Given the description of an element on the screen output the (x, y) to click on. 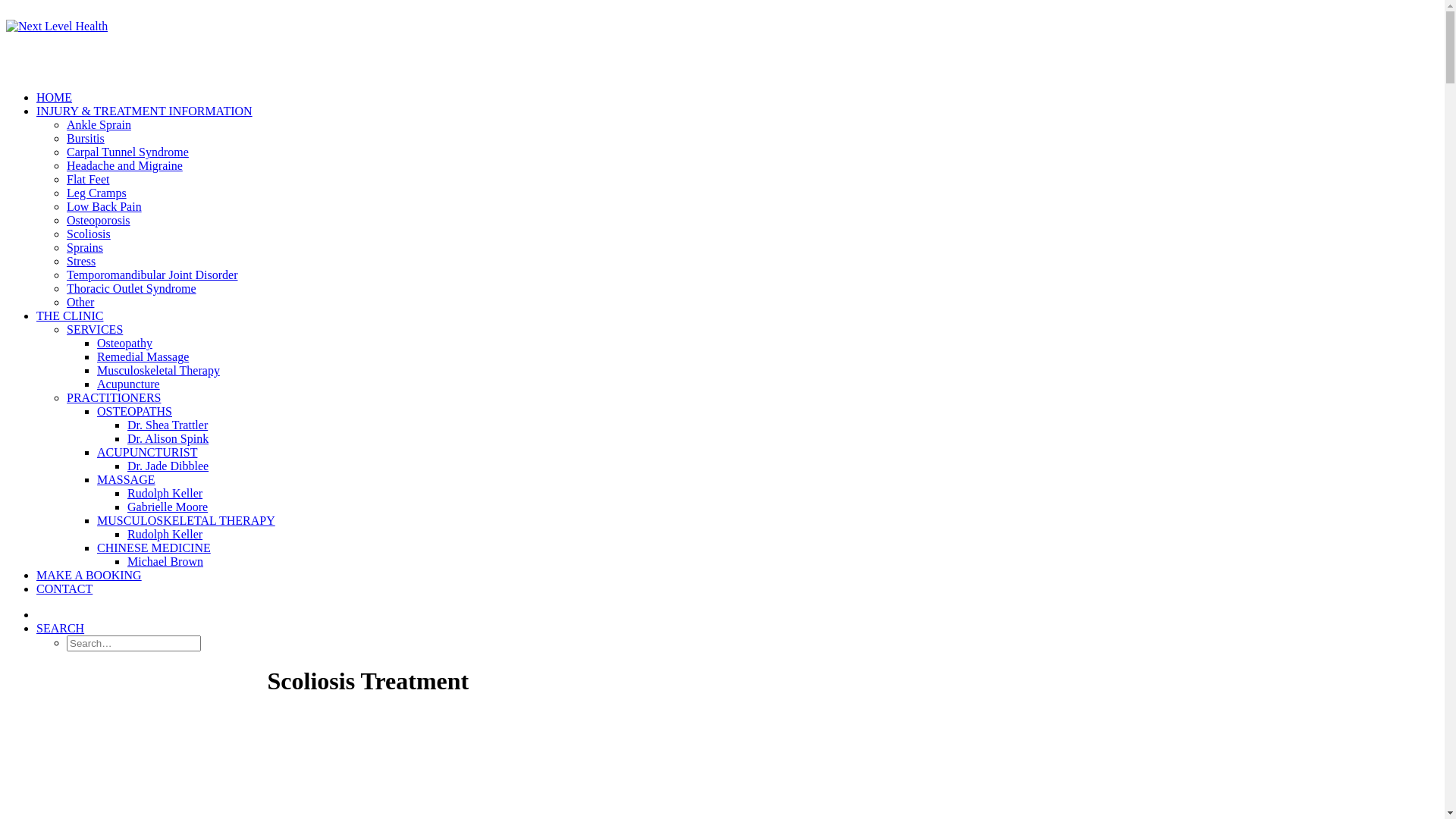
Rudolph Keller Element type: text (164, 492)
PRACTITIONERS Element type: text (113, 397)
Osteopathy Element type: text (124, 342)
Dr. Jade Dibblee Element type: text (167, 465)
INJURY & TREATMENT INFORMATION Element type: text (144, 110)
MAKE A BOOKING Element type: text (88, 574)
THE CLINIC Element type: text (69, 315)
Temporomandibular Joint Disorder Element type: text (152, 274)
Michael Brown Element type: text (165, 561)
CONTACT Element type: text (64, 588)
Acupuncture Element type: text (128, 383)
ACUPUNCTURIST Element type: text (147, 451)
Thoracic Outlet Syndrome Element type: text (131, 288)
Remedial Massage Element type: text (142, 356)
Bursitis Element type: text (85, 137)
OSTEOPATHS Element type: text (134, 410)
Ankle Sprain Element type: text (98, 124)
SEARCH Element type: text (60, 627)
Leg Cramps Element type: text (96, 192)
HOME Element type: text (54, 97)
Scoliosis Element type: text (88, 233)
Osteoporosis Element type: text (98, 219)
Flat Feet Element type: text (87, 178)
MUSCULOSKELETAL THERAPY Element type: text (186, 520)
SERVICES Element type: text (94, 329)
Stress Element type: text (80, 260)
Carpal Tunnel Syndrome Element type: text (127, 151)
Gabrielle Moore Element type: text (167, 506)
Musculoskeletal Therapy Element type: text (158, 370)
Dr. Alison Spink Element type: text (167, 438)
Other Element type: text (80, 301)
MASSAGE Element type: text (125, 479)
Sprains Element type: text (84, 247)
CHINESE MEDICINE Element type: text (153, 547)
Dr. Shea Trattler Element type: text (167, 424)
Low Back Pain Element type: text (103, 206)
Rudolph Keller Element type: text (164, 533)
Headache and Migraine Element type: text (124, 165)
